Given the description of an element on the screen output the (x, y) to click on. 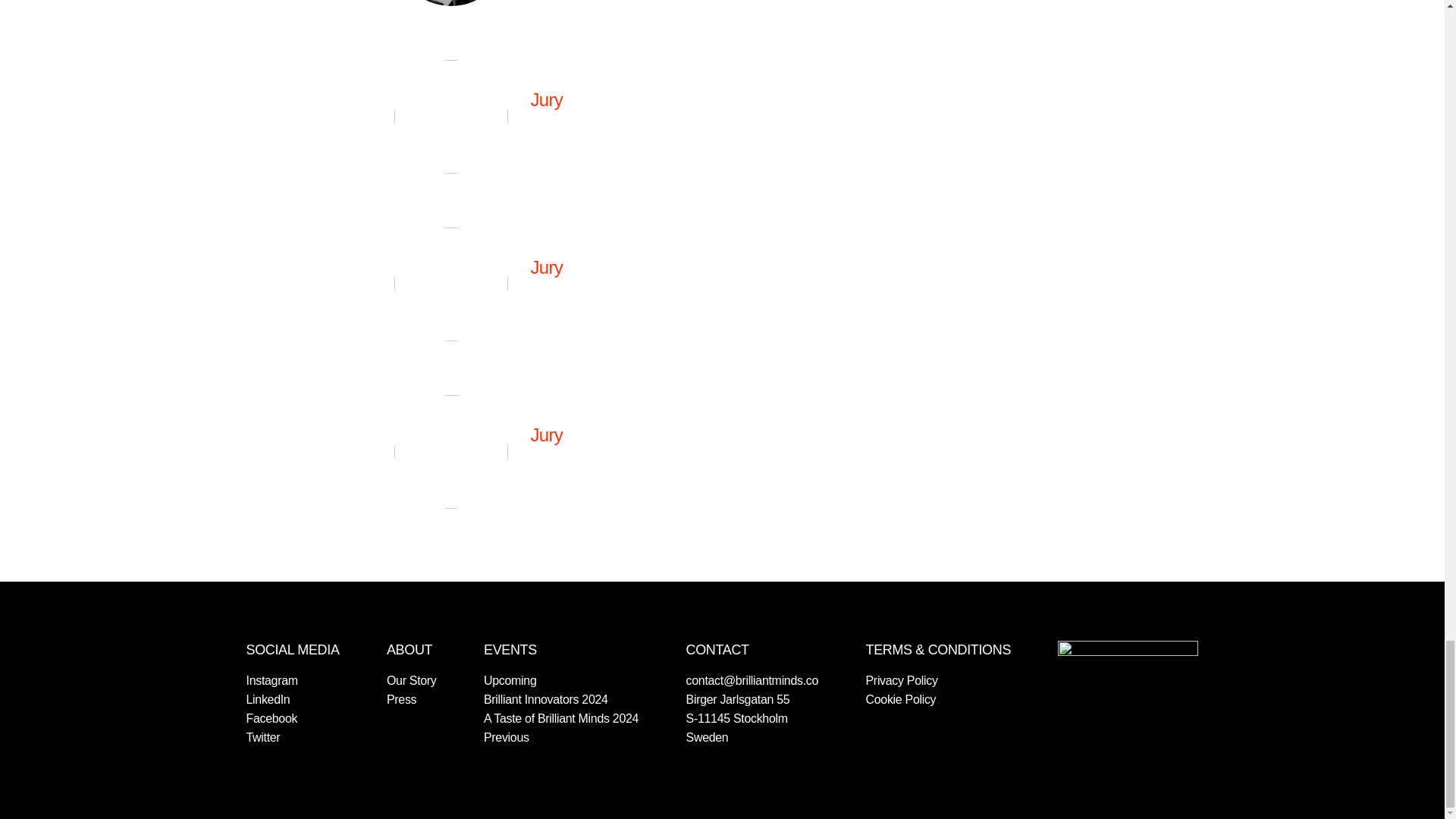
Press (401, 698)
Cookie Policy (901, 698)
A Taste of Brilliant Minds 2024 (561, 717)
Read more (574, 303)
Facebook (271, 717)
LinkedIn (267, 698)
Brilliant Innovators 2024 (545, 698)
Read more (574, 470)
Previous (506, 737)
Privacy Policy (901, 680)
Read more (574, 135)
Upcoming (509, 680)
Instagram (271, 680)
Twitter (262, 737)
Our Story (411, 680)
